Given the description of an element on the screen output the (x, y) to click on. 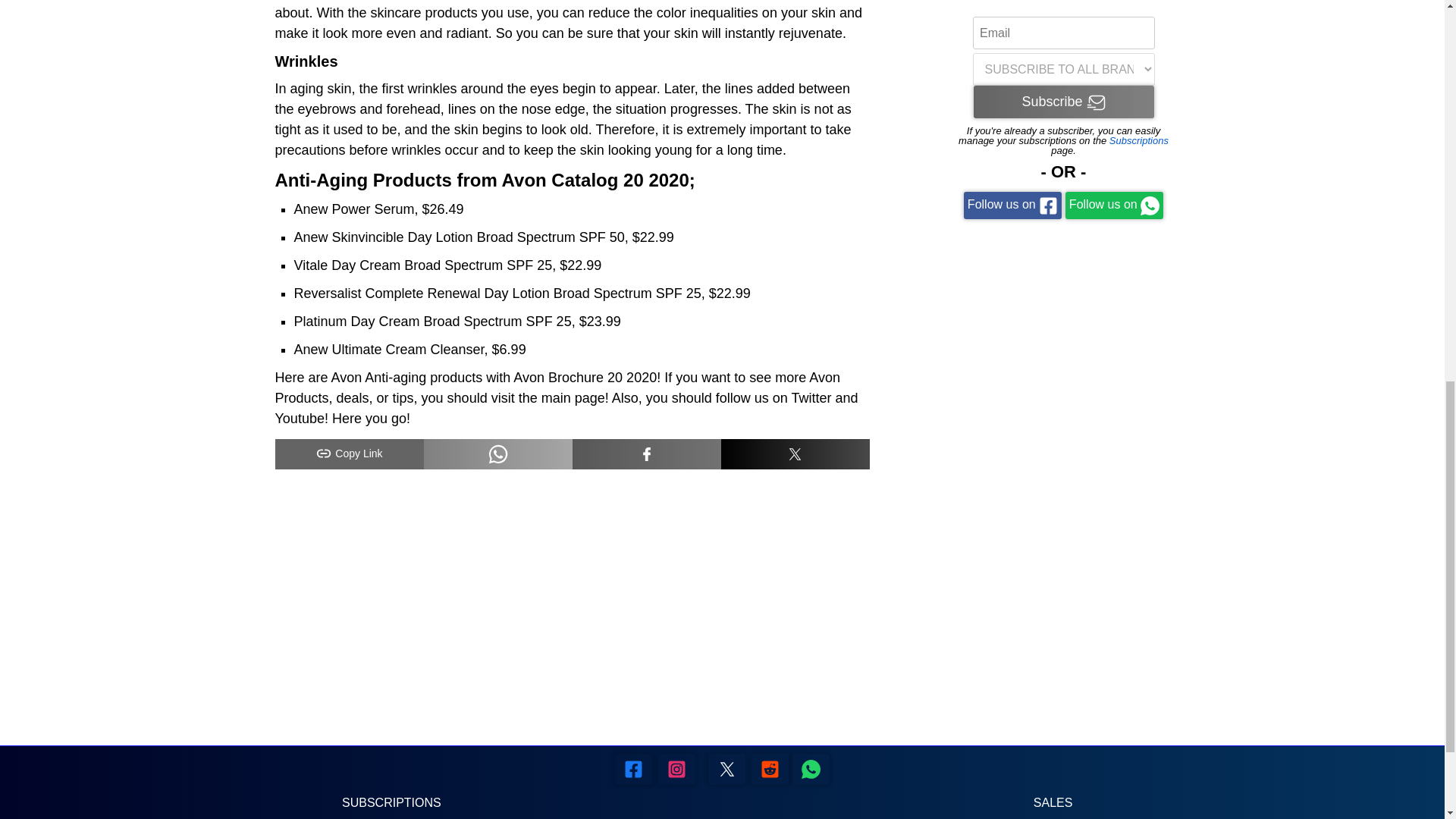
WeeklyAds2 on Instagram (676, 768)
SALES (1053, 802)
Share on X (794, 453)
WeeklyAds2 on Facebook (633, 768)
WeeklyAds2 on Reddit (810, 768)
WeeklyAds2 on X (726, 768)
Copy Link (349, 453)
Follow us on (1114, 204)
WeeklyAds2 on Reddit (770, 768)
Follow us on (1012, 204)
